Given the description of an element on the screen output the (x, y) to click on. 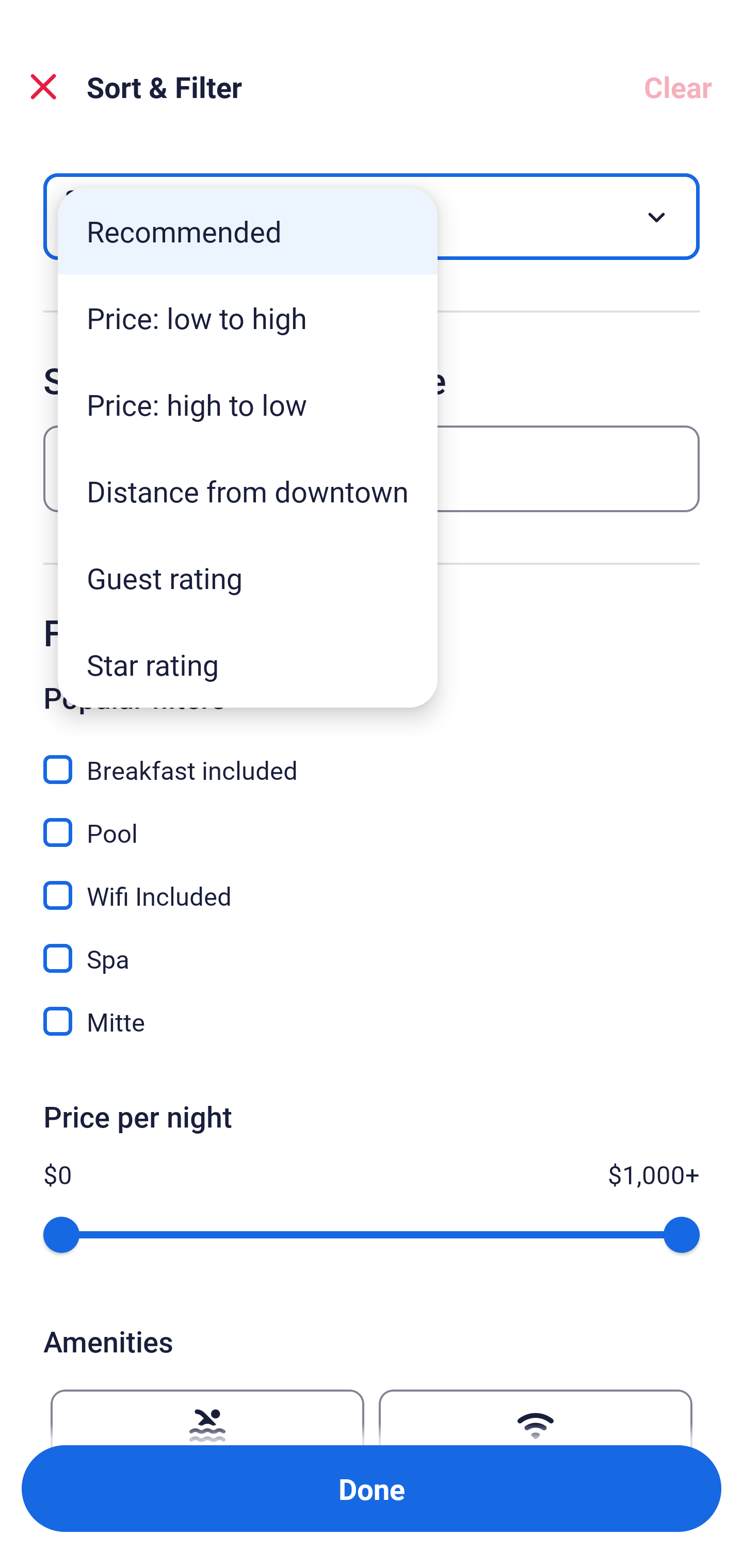
Price: low to high (247, 317)
Price: high to low (247, 404)
Distance from downtown (247, 491)
Guest rating (247, 577)
Star rating (247, 663)
